Given the description of an element on the screen output the (x, y) to click on. 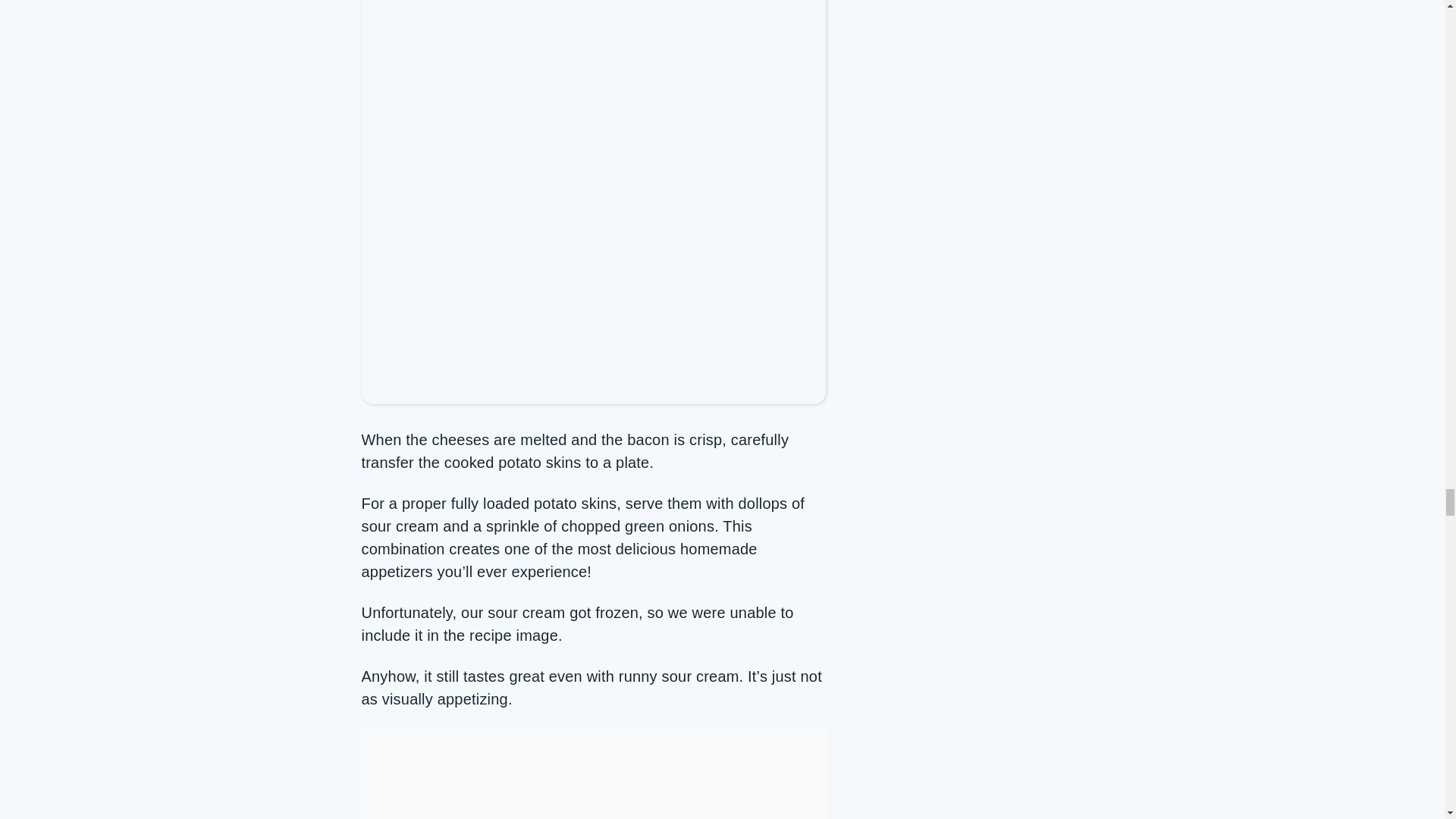
4 servings of air fried potato skins in a black plate. (593, 176)
